Given the description of an element on the screen output the (x, y) to click on. 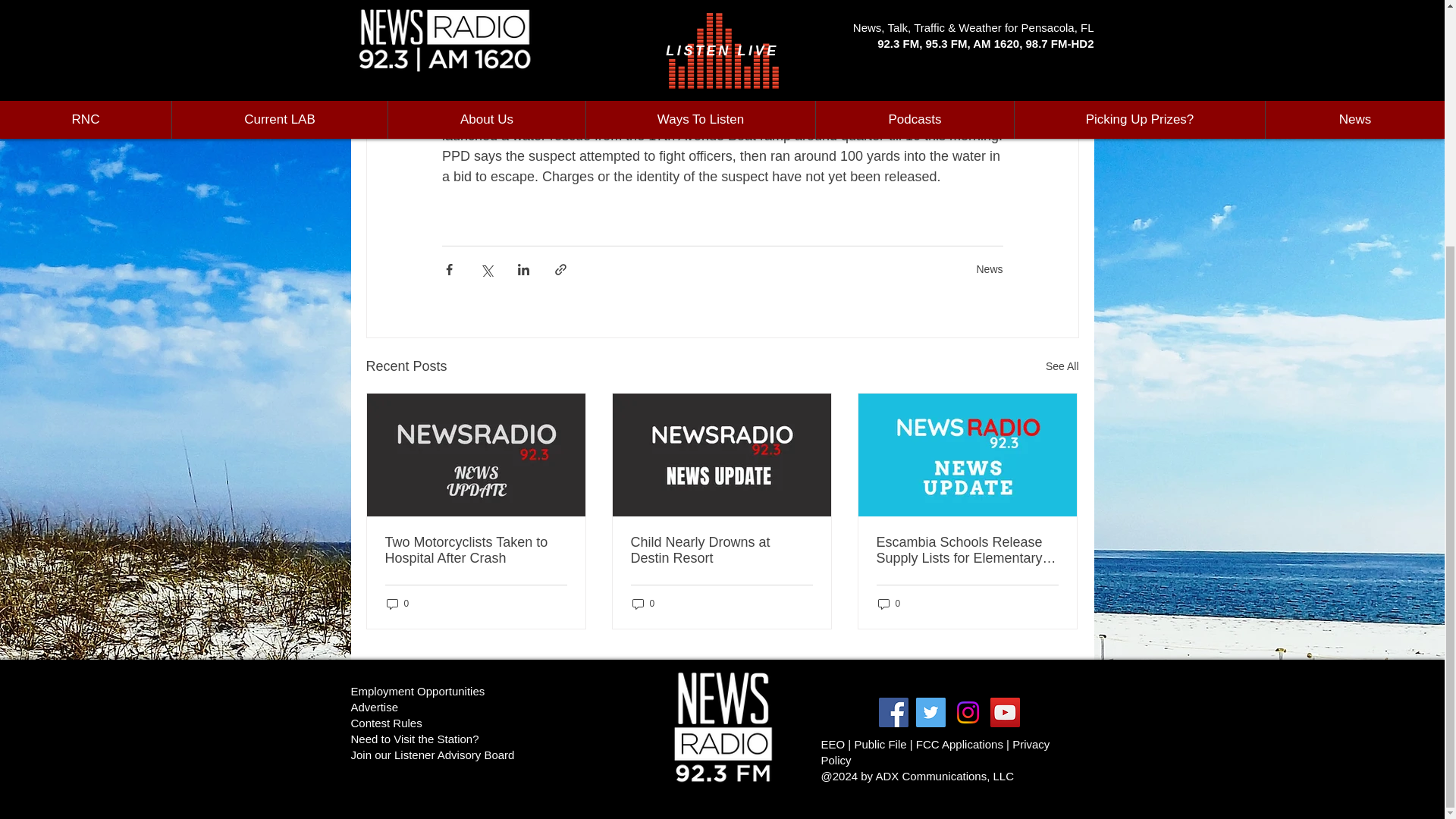
News (989, 268)
Child Nearly Drowns at Destin Resort (721, 550)
0 (397, 603)
See All (1061, 366)
Two Motorcyclists Taken to Hospital After Crash (476, 550)
